Given the description of an element on the screen output the (x, y) to click on. 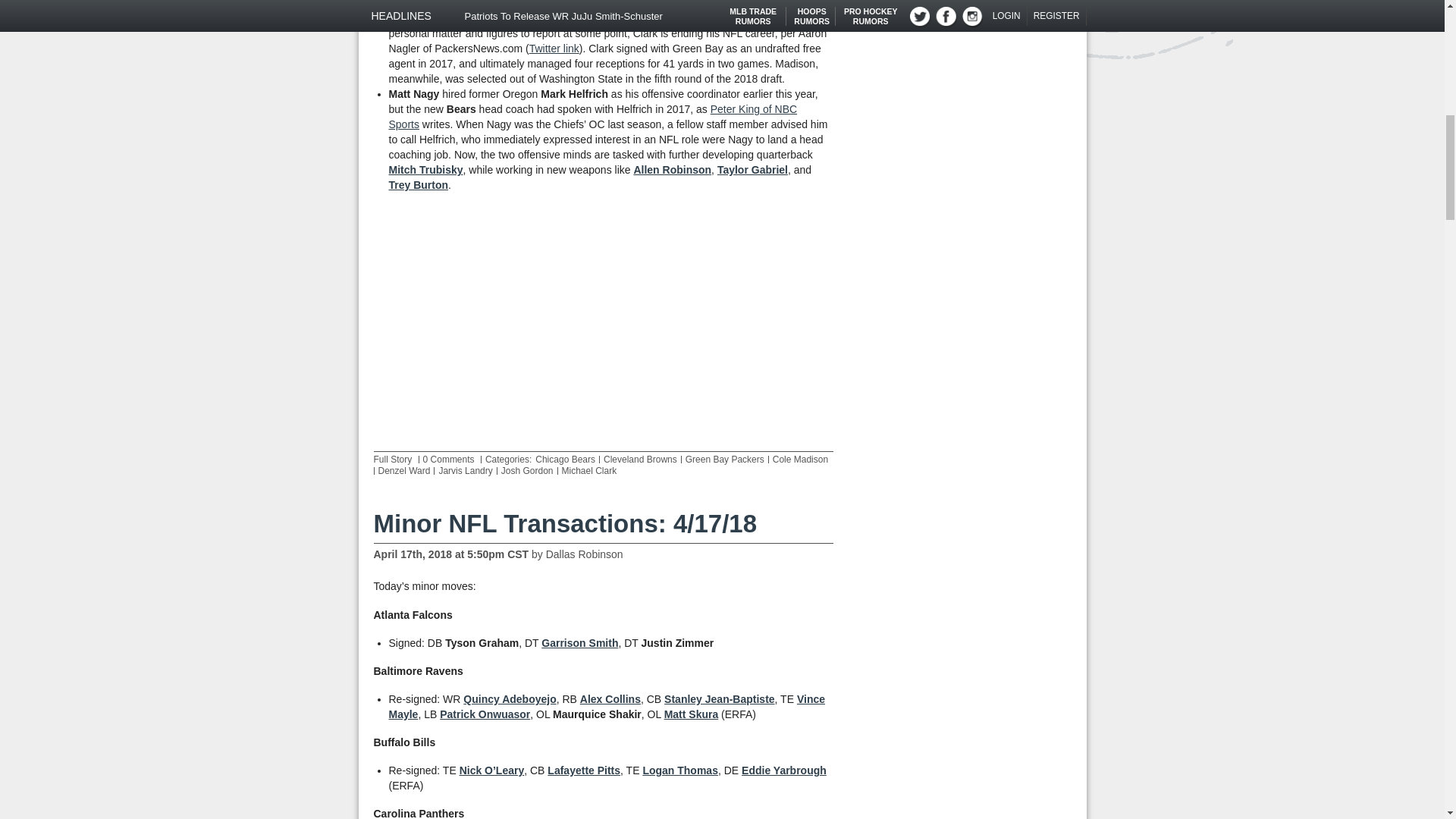
View all posts in Green Bay Packers (724, 459)
View all posts in Jarvis Landry (465, 470)
View all posts in Denzel Ward (403, 470)
View all posts in Josh Gordon (526, 470)
3rd party ad content (603, 321)
View all posts in Cole Madison (800, 459)
View all posts in Cleveland Browns (640, 459)
View all posts in Chicago Bears (565, 459)
View all posts in Michael Clark (589, 470)
